Given the description of an element on the screen output the (x, y) to click on. 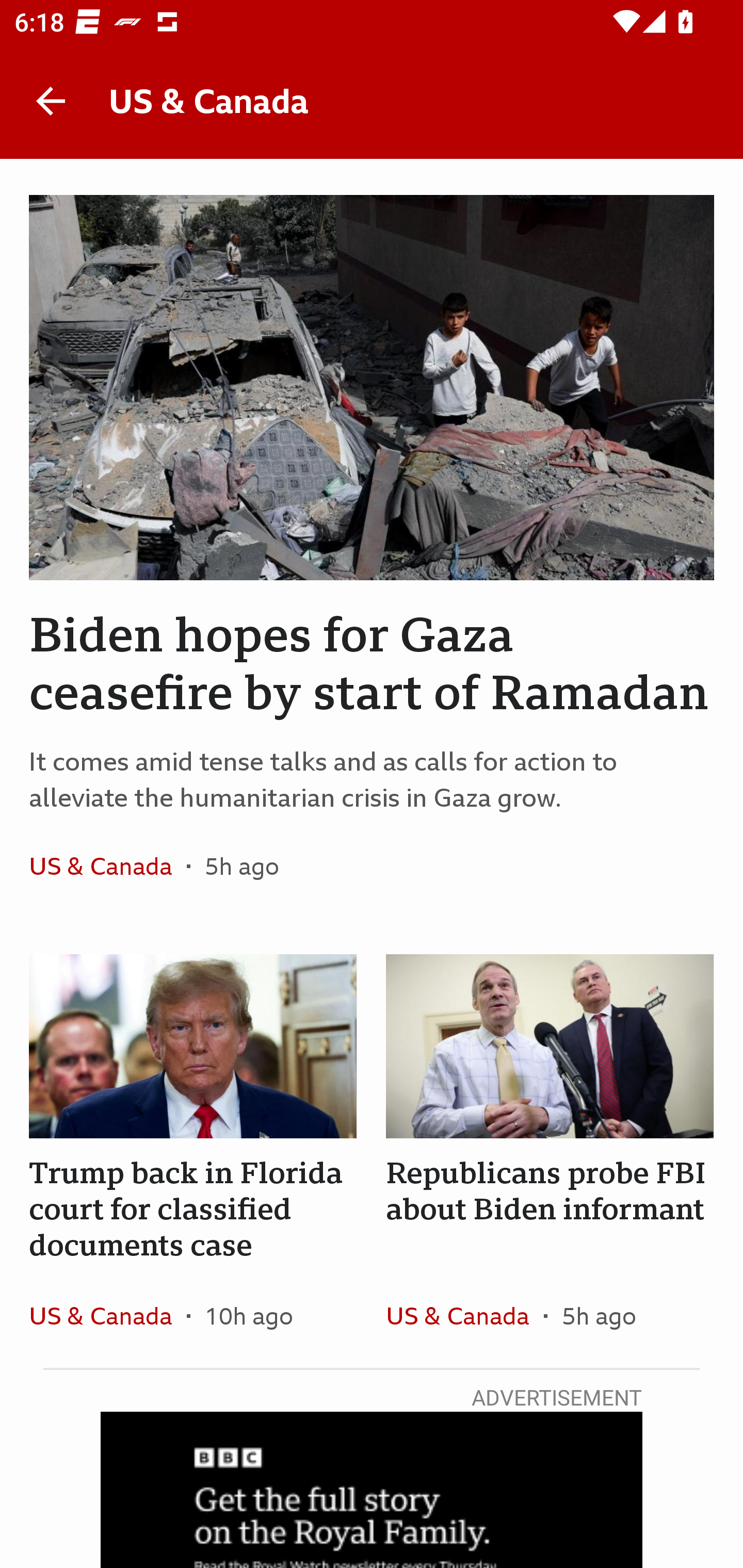
Back (50, 101)
US & Canada In the section US & Canada (107, 865)
US & Canada In the section US & Canada (107, 1315)
US & Canada In the section US & Canada (464, 1315)
